Given the description of an element on the screen output the (x, y) to click on. 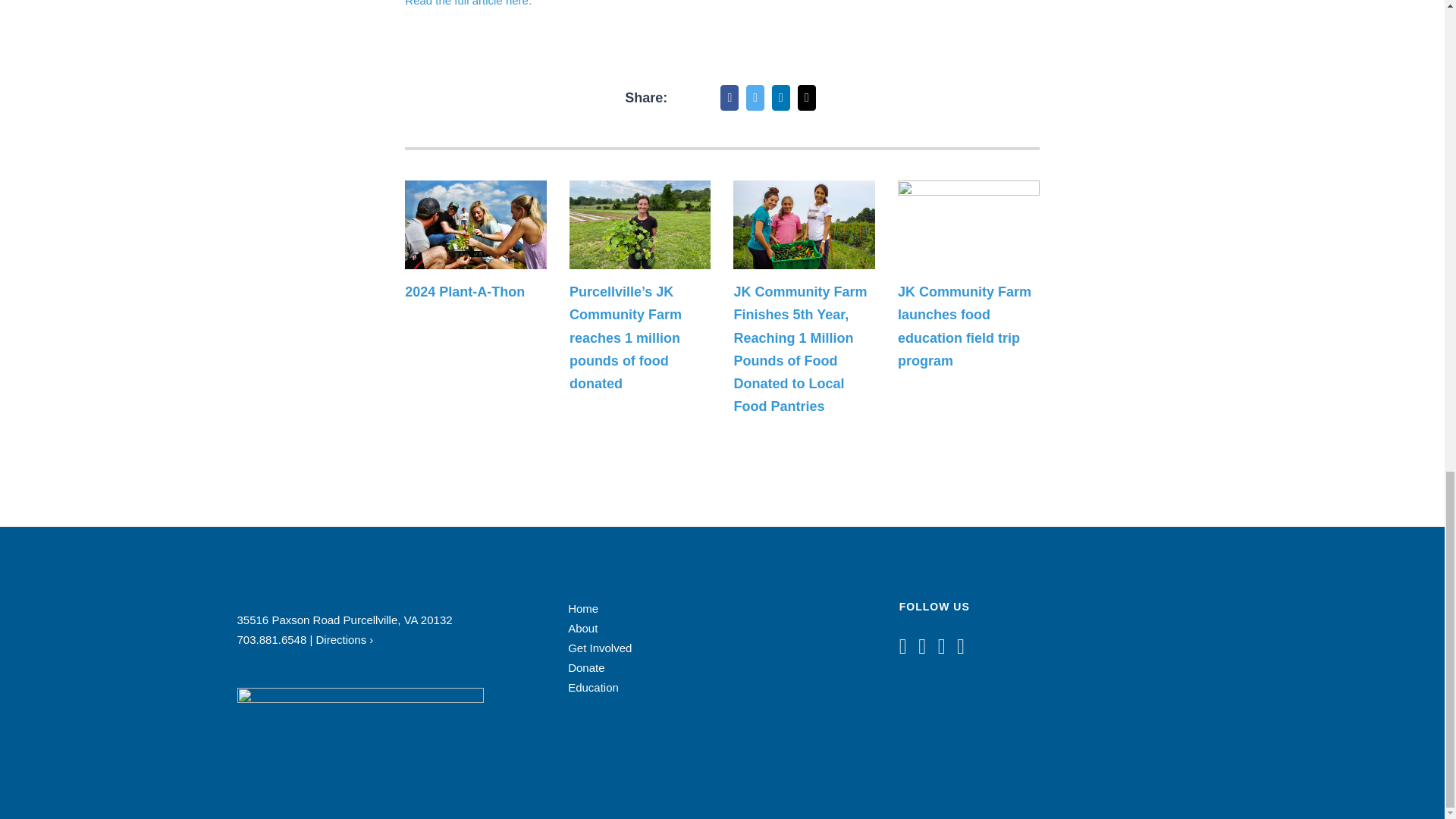
2024 Plant-A-Thon (464, 291)
Read the full article here. (467, 3)
